Given the description of an element on the screen output the (x, y) to click on. 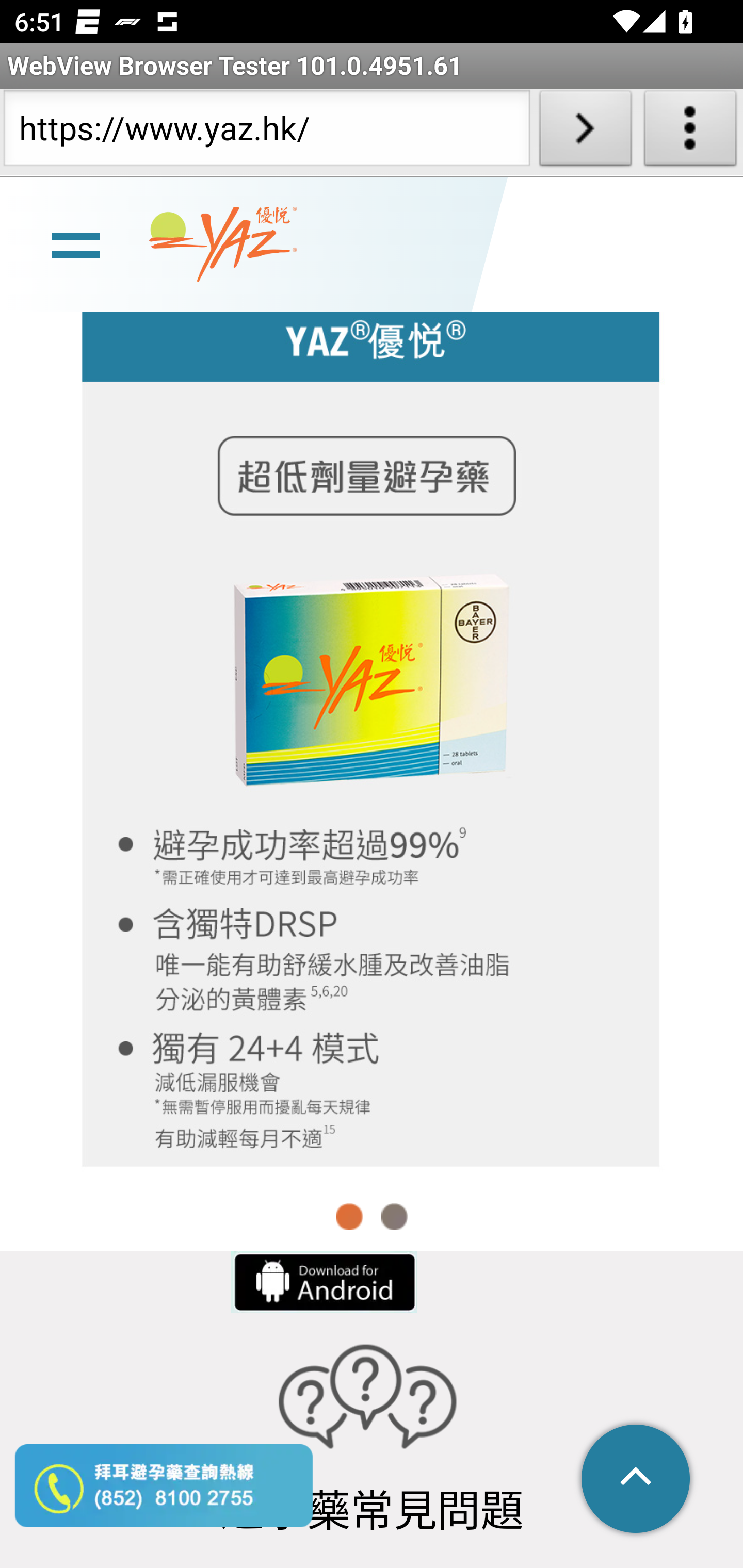
https://www.yaz.hk/ (266, 132)
Load URL (585, 132)
About WebView (690, 132)
www.yaz (222, 244)
line Toggle burger menu (75, 245)
slide 1 (371, 726)
1 of 2 (349, 1216)
2 of 2 (393, 1216)
details?id=com.bayer.ph (322, 1282)
 (636, 1480)
